Given the description of an element on the screen output the (x, y) to click on. 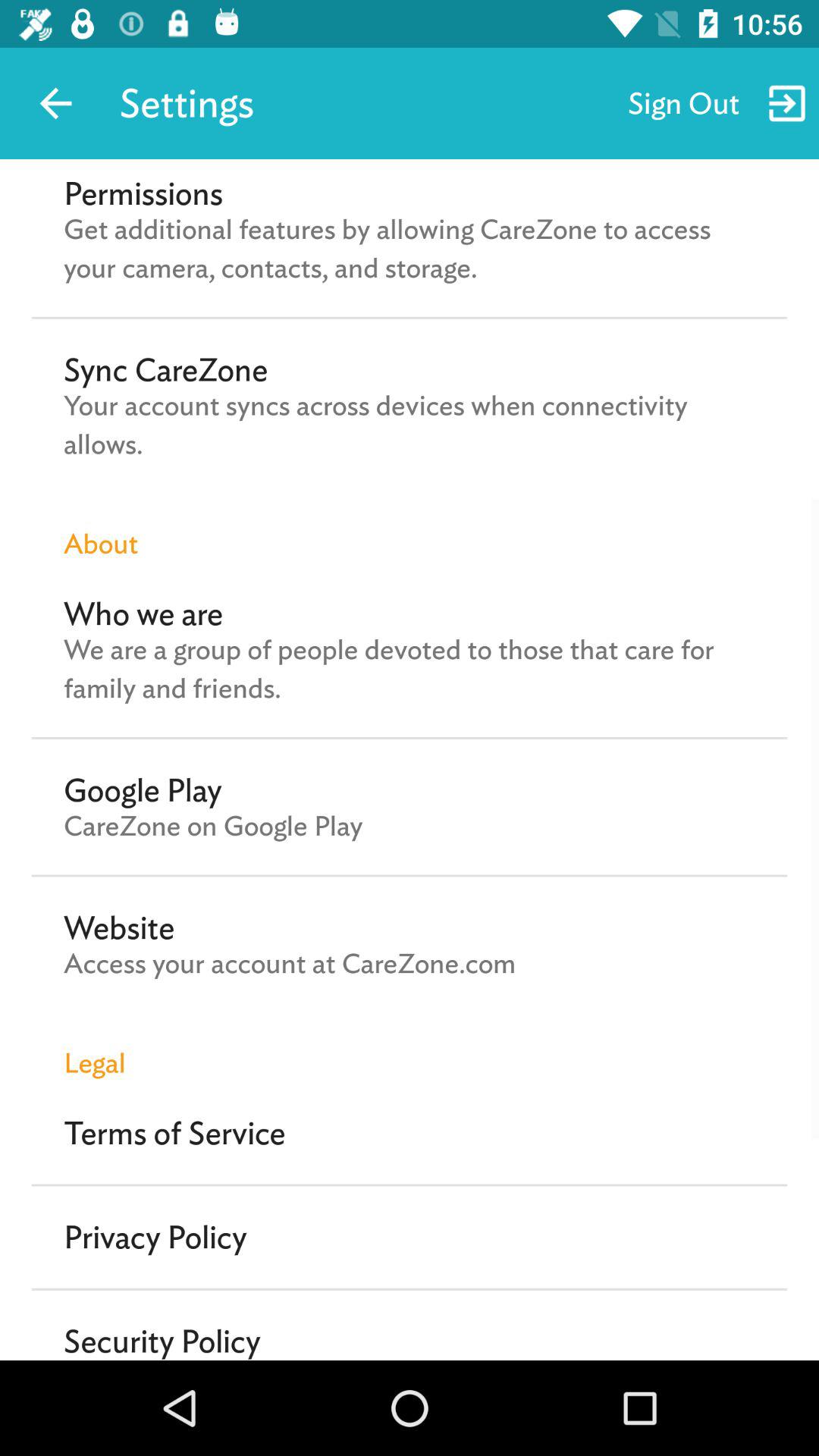
open the icon below your account syncs (409, 527)
